Given the description of an element on the screen output the (x, y) to click on. 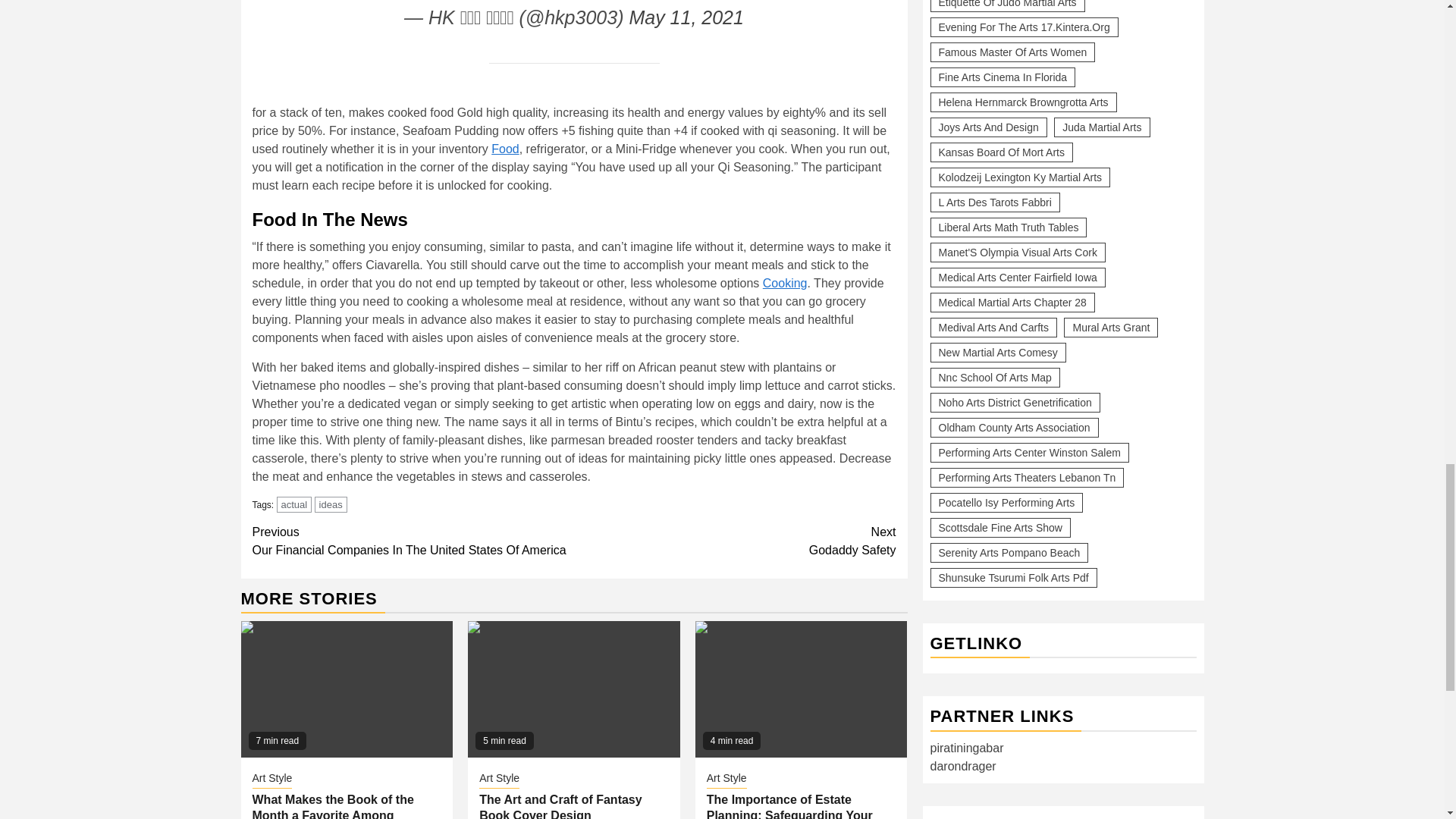
May 11, 2021 (686, 16)
The Importance of Estate Planning: Safeguarding Your Legacy (801, 688)
Art Style (271, 779)
Food (505, 148)
ideas (330, 504)
Cooking (734, 541)
